Given the description of an element on the screen output the (x, y) to click on. 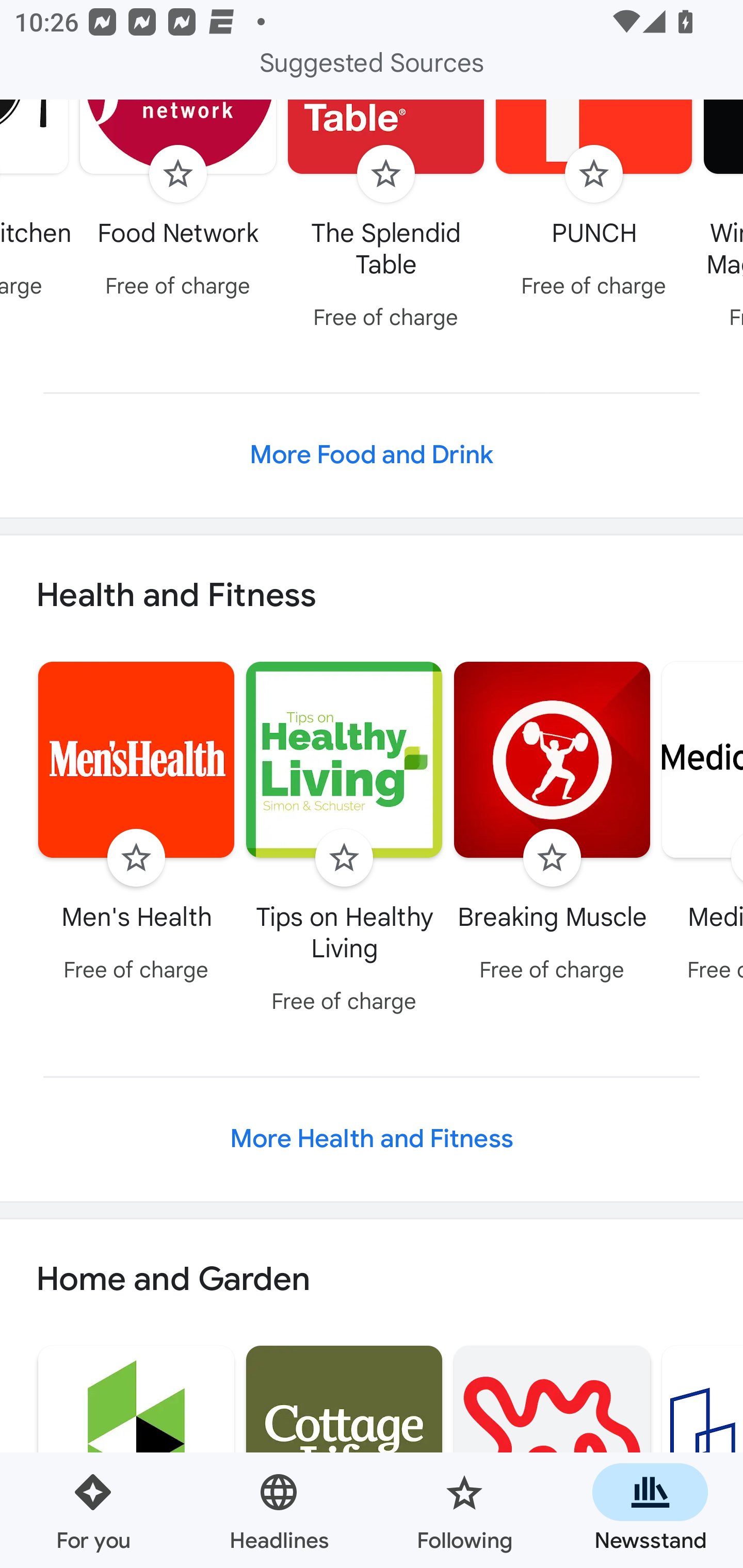
Follow Food Network Free of charge (178, 203)
Follow The Splendid Table Free of charge (386, 219)
Follow PUNCH Free of charge (594, 203)
Follow (177, 173)
Follow (385, 173)
Follow (593, 173)
More Food and Drink (371, 455)
Health and Fitness (371, 594)
Follow Men's Health Free of charge (136, 824)
Follow Tips on Healthy Living Free of charge (344, 840)
Follow Breaking Muscle Free of charge (552, 824)
Follow (135, 857)
Follow (343, 857)
Follow (552, 857)
More Health and Fitness (371, 1139)
Home and Garden (371, 1279)
For you (92, 1509)
Headlines (278, 1509)
Following (464, 1509)
Newsstand (650, 1509)
